Given the description of an element on the screen output the (x, y) to click on. 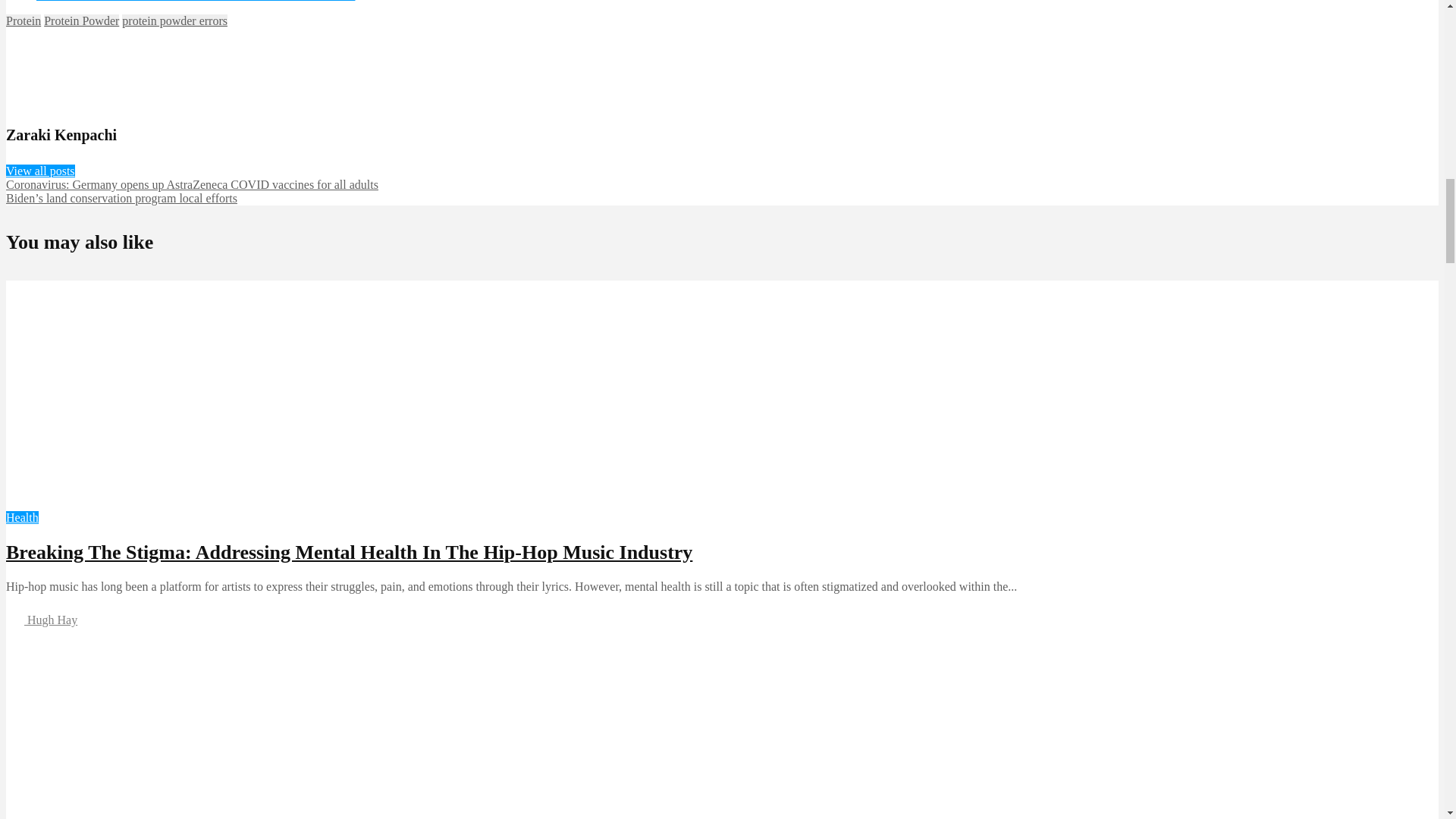
Protein (22, 20)
View all posts (40, 170)
protein powder errors (174, 20)
Protein Powder (81, 20)
